Given the description of an element on the screen output the (x, y) to click on. 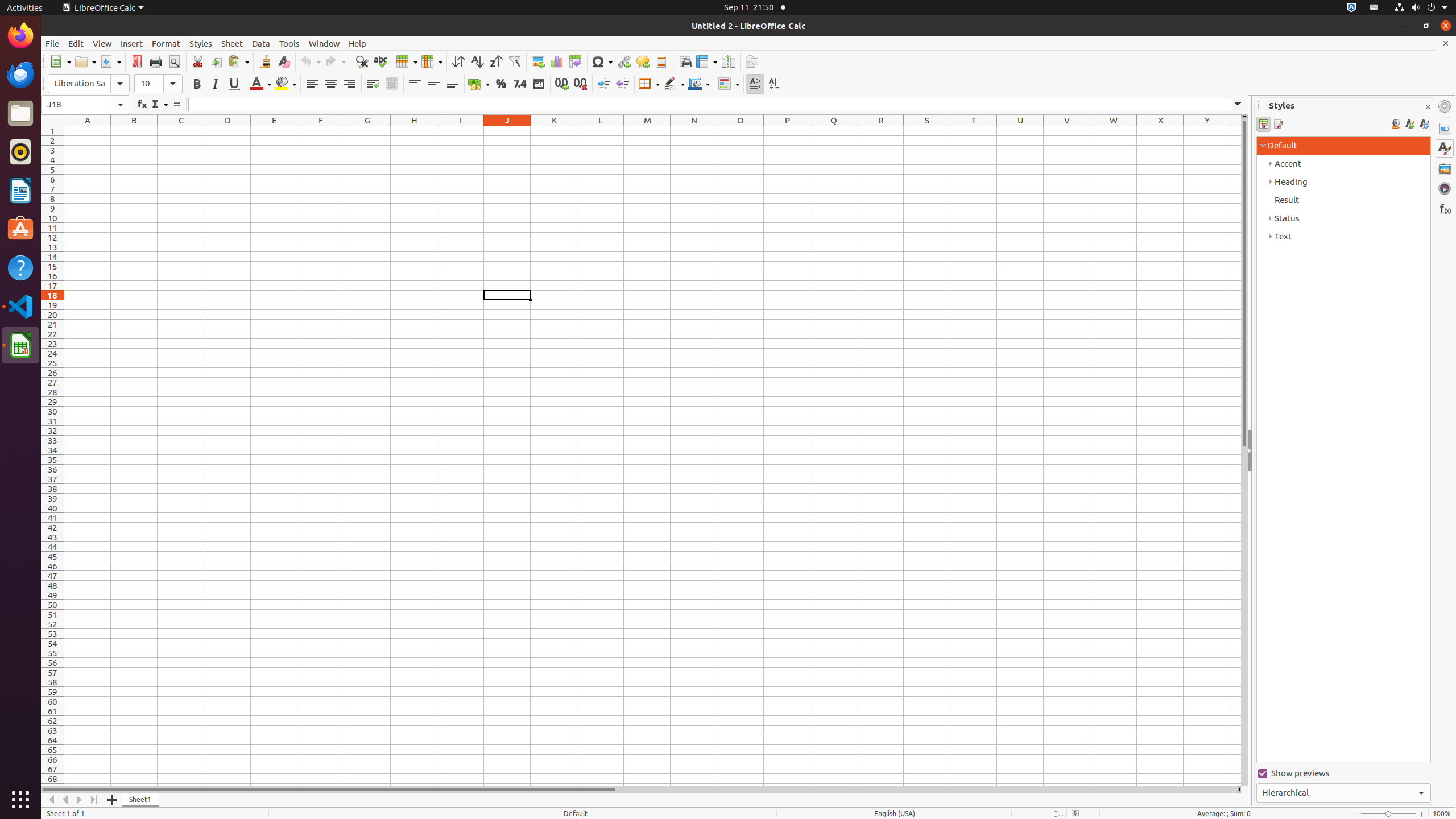
Input line Element type: panel (710, 104)
Spelling Element type: push-button (379, 61)
Font Name Element type: panel (88, 83)
Tools Element type: menu (289, 43)
Border Style Element type: push-button (673, 83)
